Given the description of an element on the screen output the (x, y) to click on. 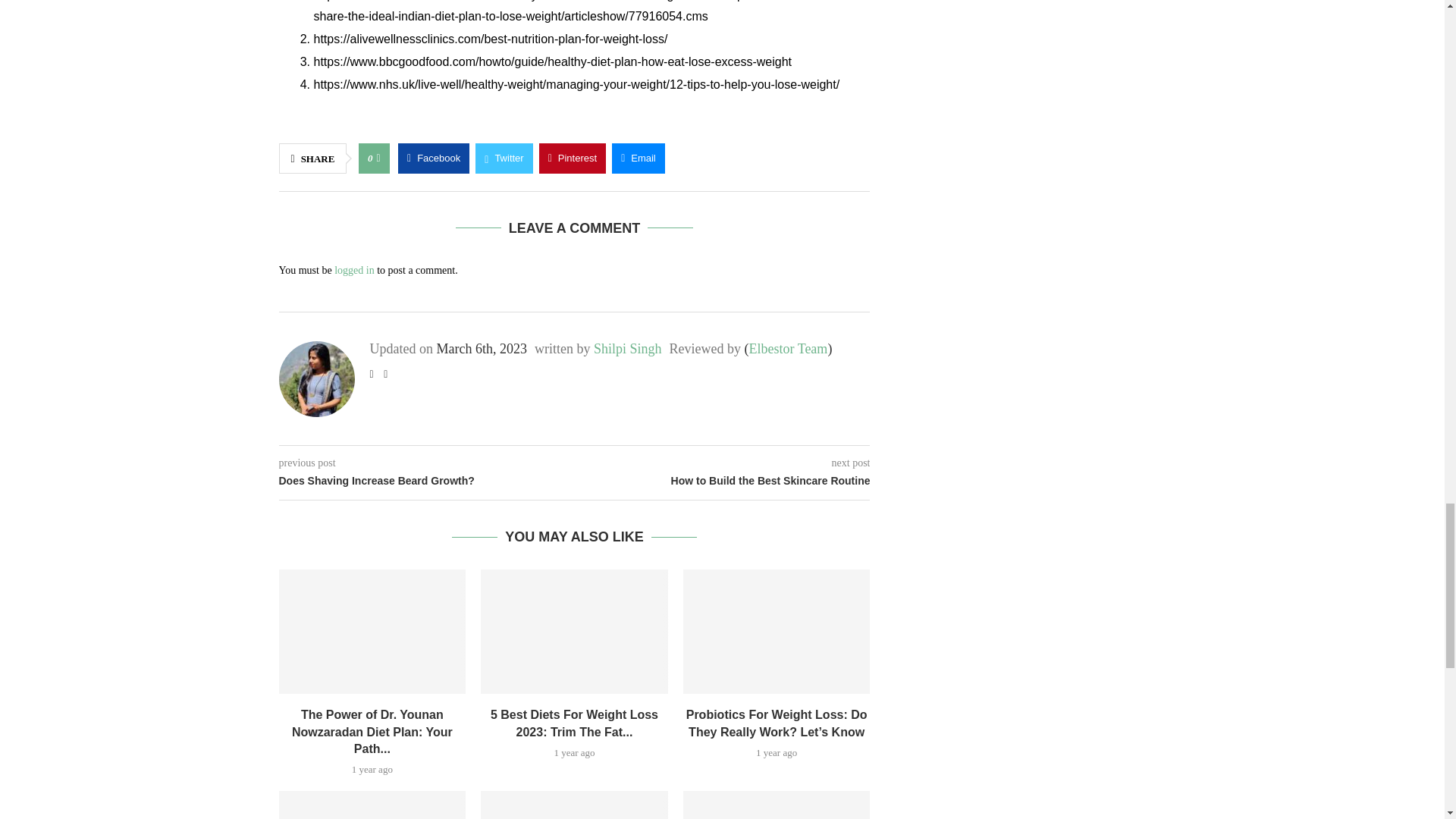
When To Consume Ginger Tea For Weight Loss? (372, 805)
Author Shilpi Singh (628, 348)
Best Fat Burner for Women 2023: Top 7 Fat Burning Pills (574, 805)
